Given the description of an element on the screen output the (x, y) to click on. 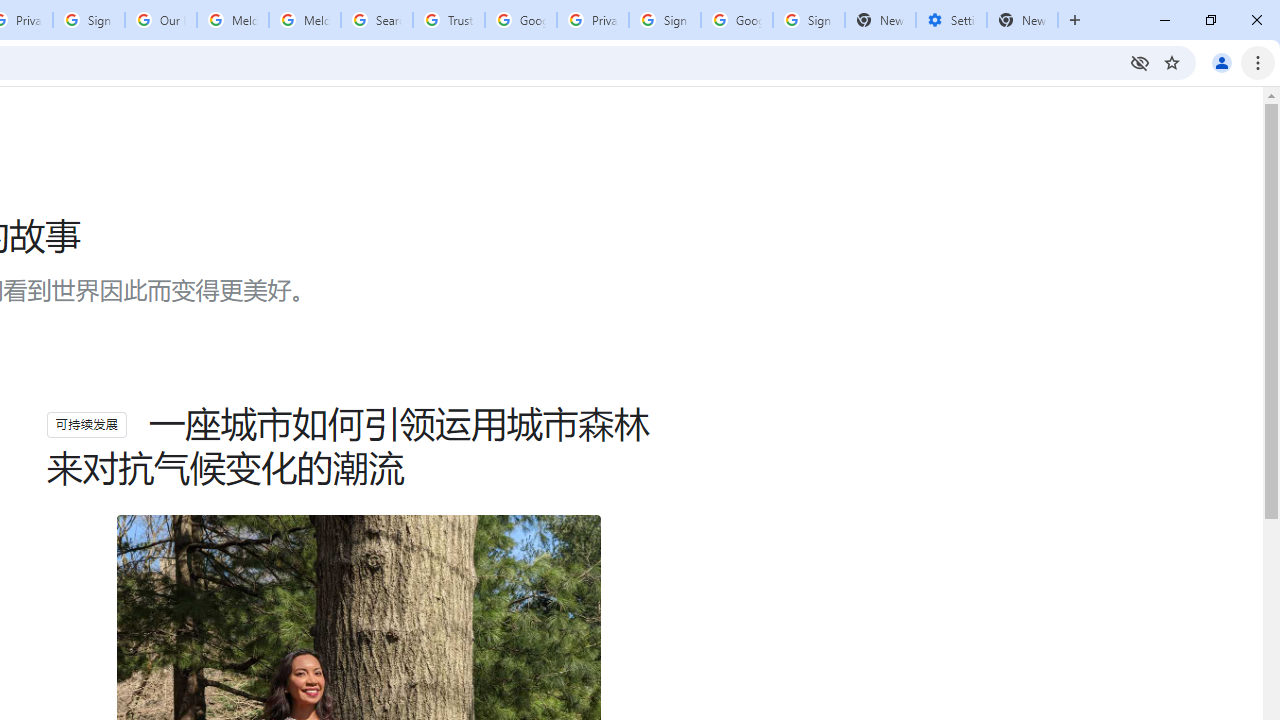
New Tab (1022, 20)
Sign in - Google Accounts (808, 20)
Google Cybersecurity Innovations - Google Safety Center (737, 20)
